Given the description of an element on the screen output the (x, y) to click on. 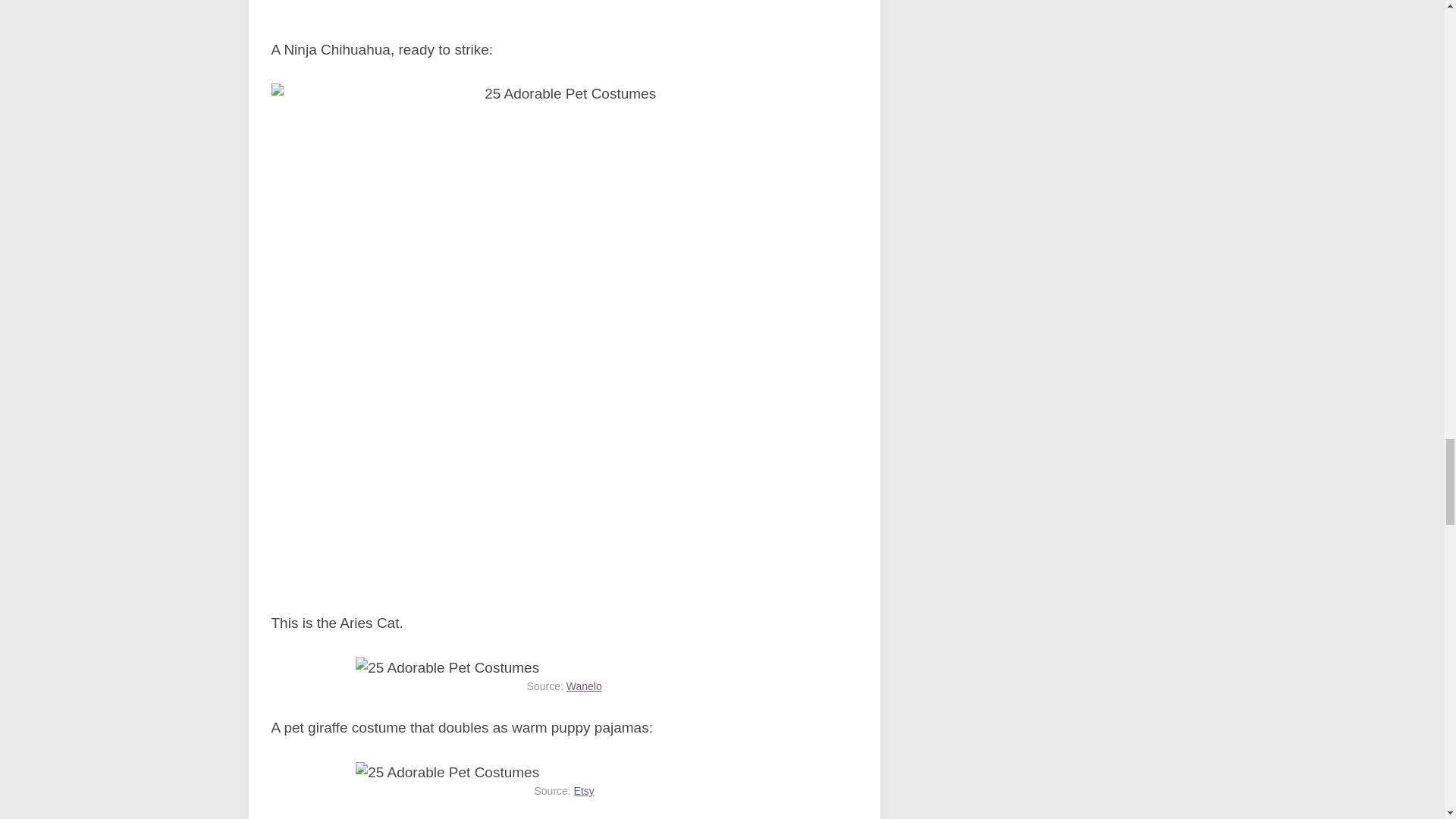
Cute Dogs In Costumes (563, 8)
Cute Costumes For Pets (446, 772)
Halloween Pet Costumes For Cats (446, 668)
